Given the description of an element on the screen output the (x, y) to click on. 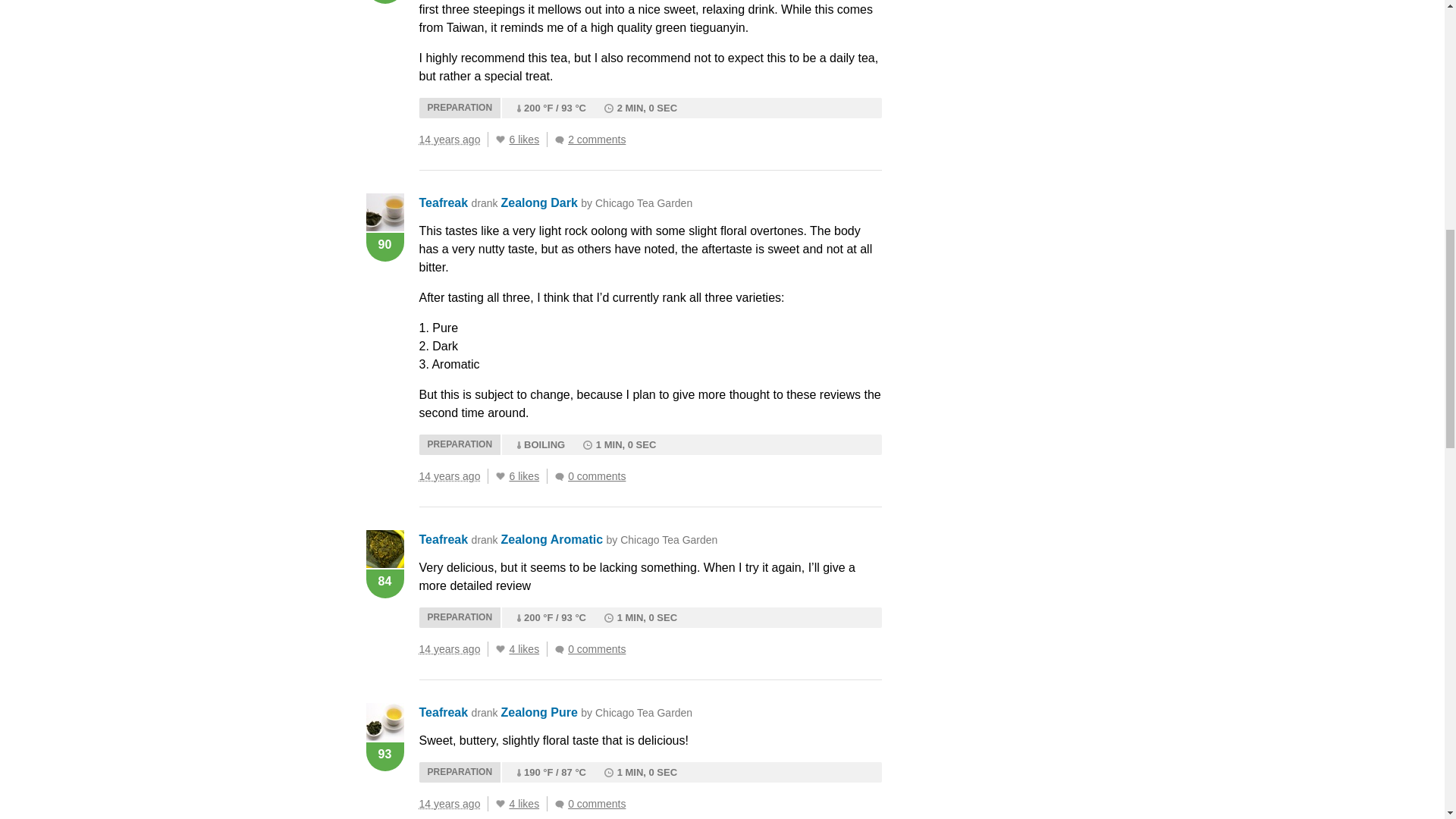
Like This (500, 139)
2010-10-14T04:24:42Z (449, 139)
2010-09-03T01:10:51Z (449, 476)
